Given the description of an element on the screen output the (x, y) to click on. 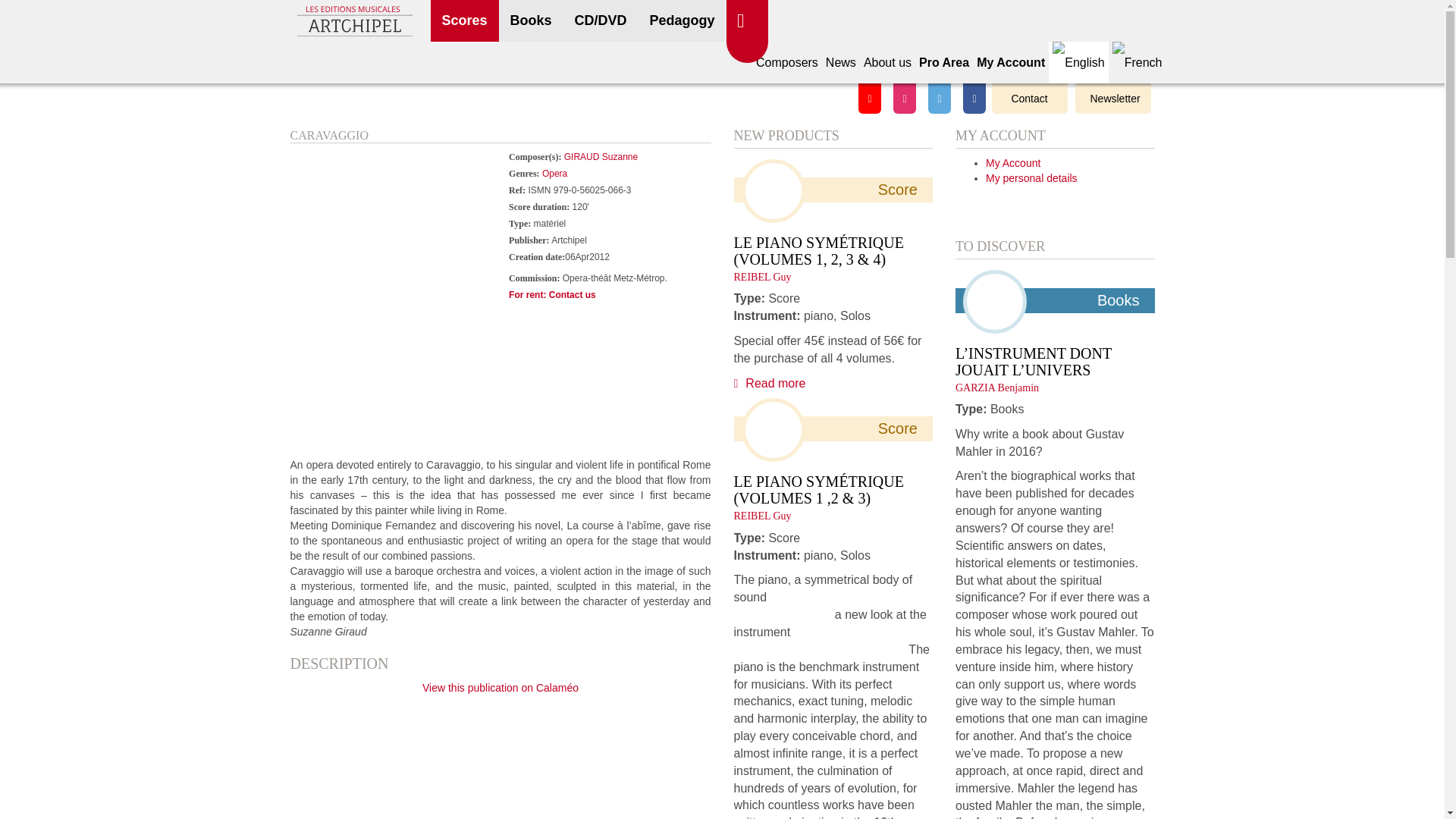
Pro Area (943, 62)
Books (531, 20)
Contact (1029, 98)
Composers (787, 62)
News (841, 62)
Pedagogy (682, 20)
About us (887, 62)
My Account (1010, 62)
Newsletter (1113, 98)
Scores (464, 20)
